Given the description of an element on the screen output the (x, y) to click on. 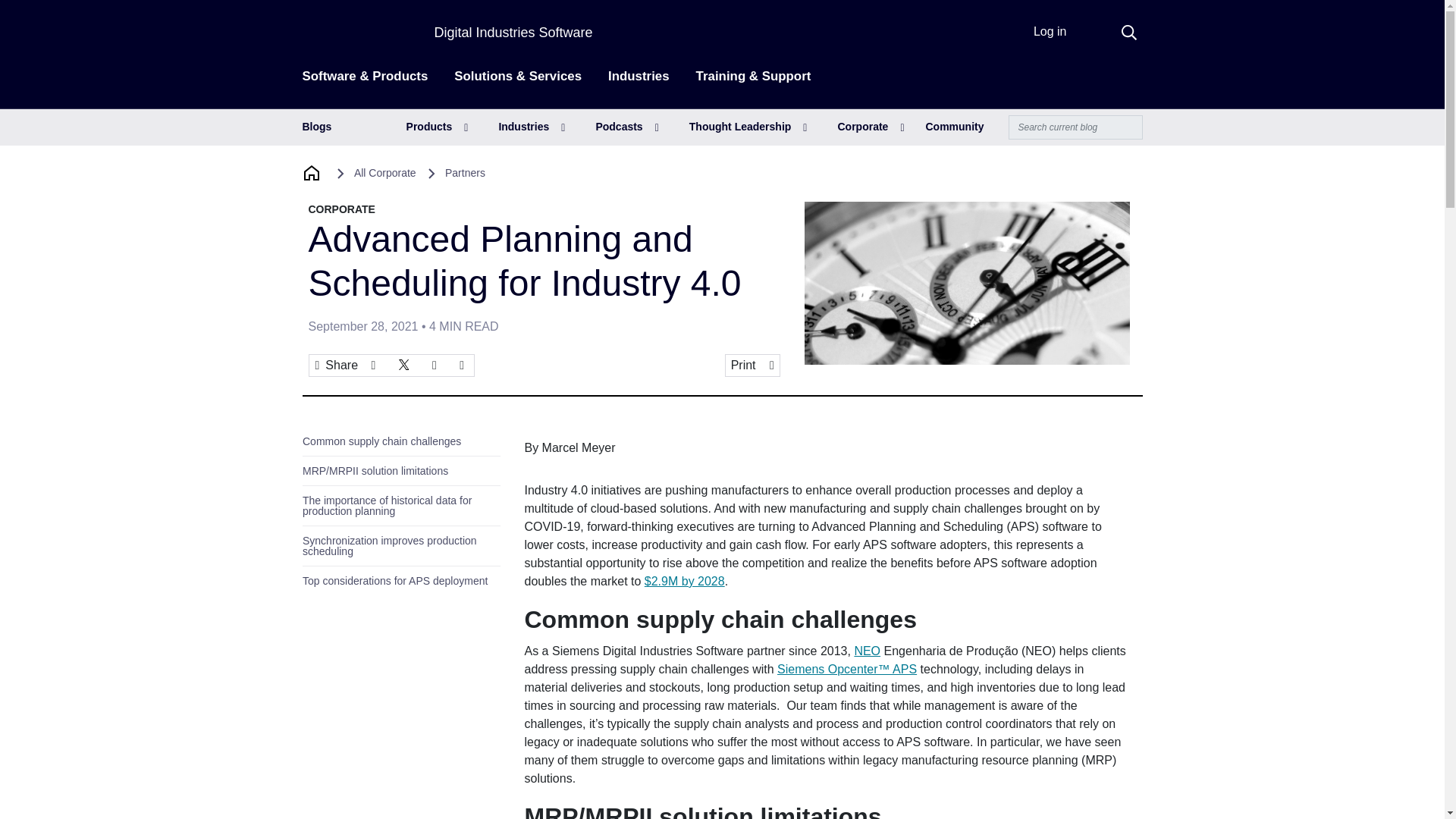
search (1128, 32)
Siemens (347, 32)
Products (437, 127)
Digital Industries Software (512, 32)
Log in (1050, 31)
